Given the description of an element on the screen output the (x, y) to click on. 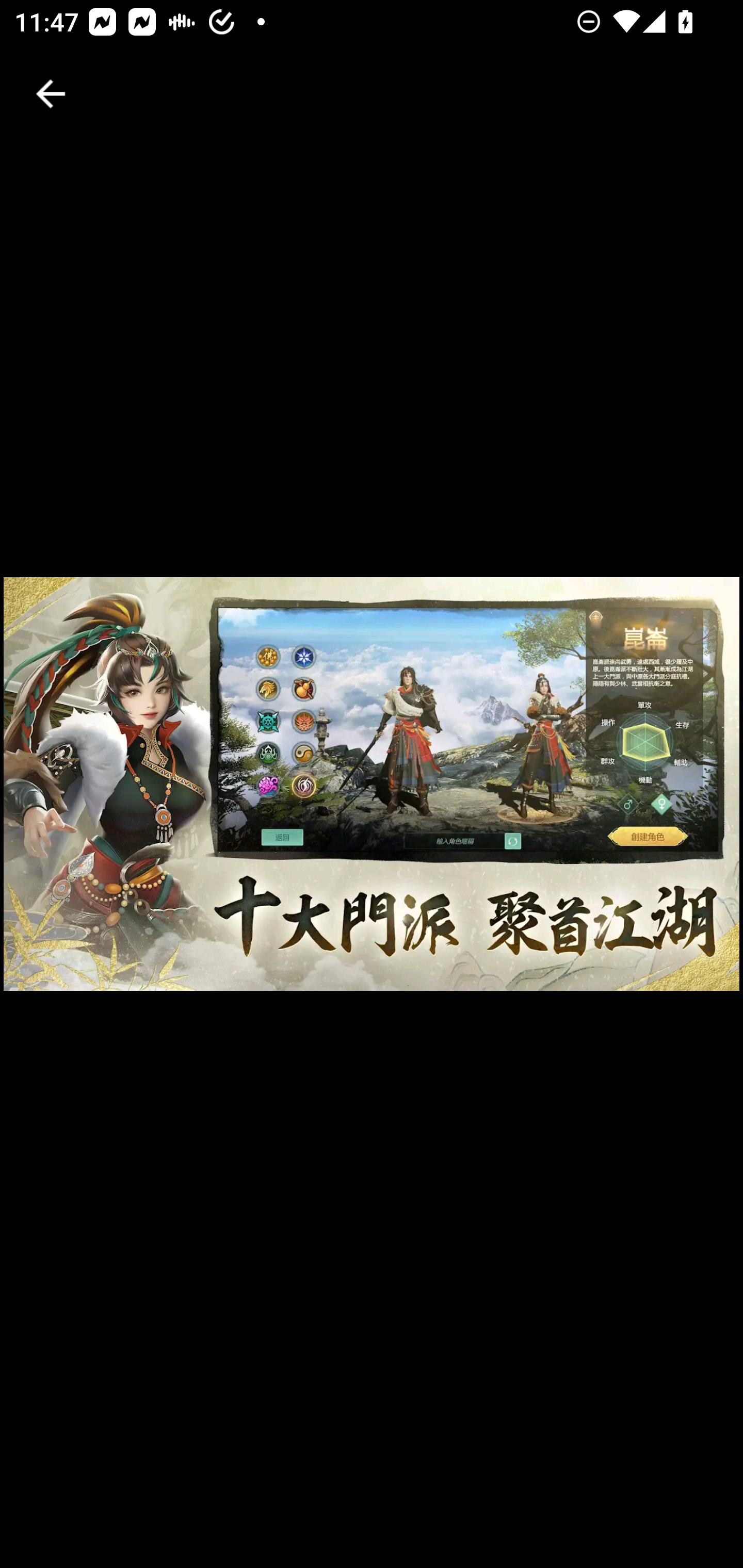
Back (50, 93)
